Given the description of an element on the screen output the (x, y) to click on. 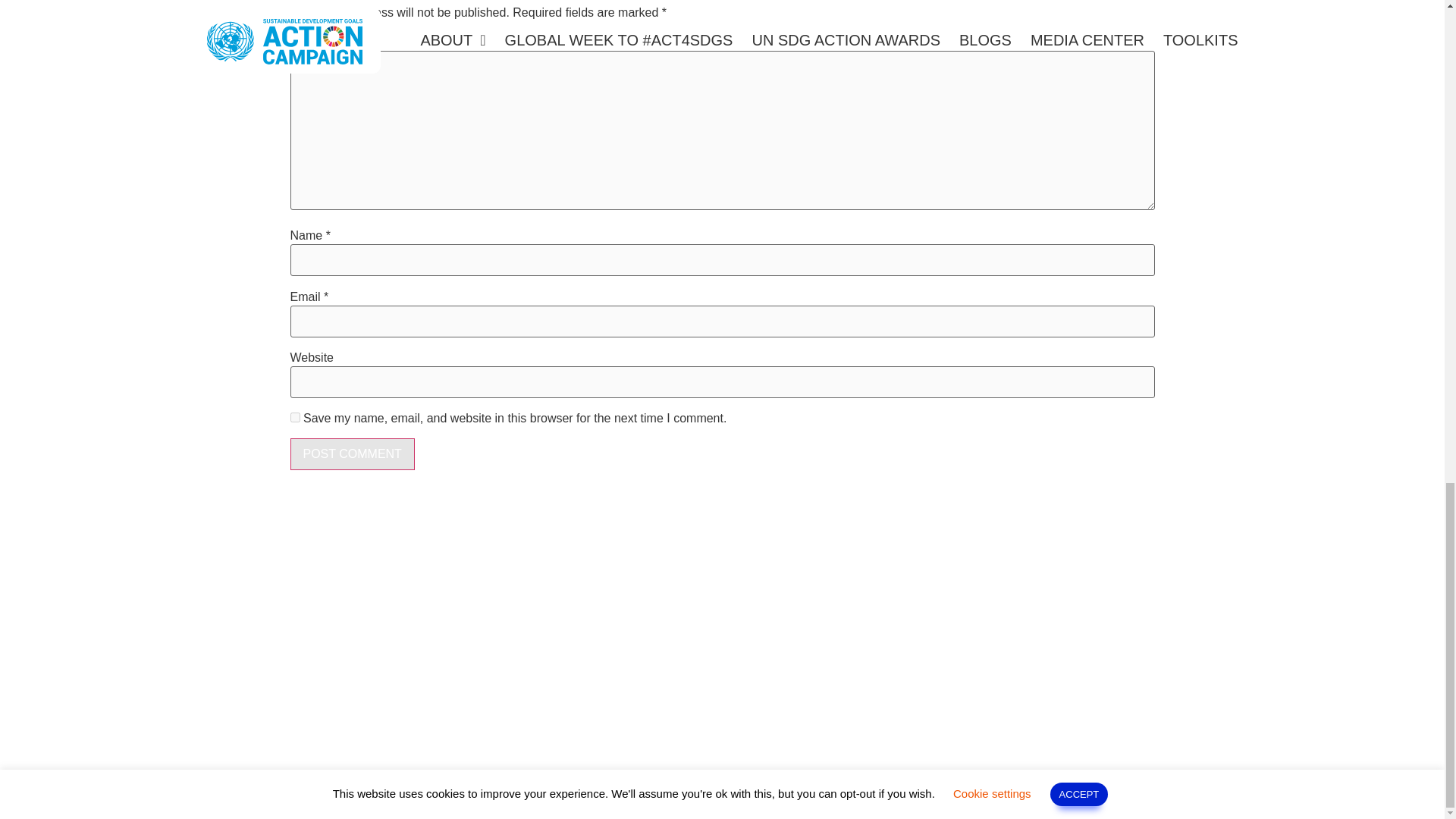
yes (294, 417)
Post Comment (351, 454)
